Given the description of an element on the screen output the (x, y) to click on. 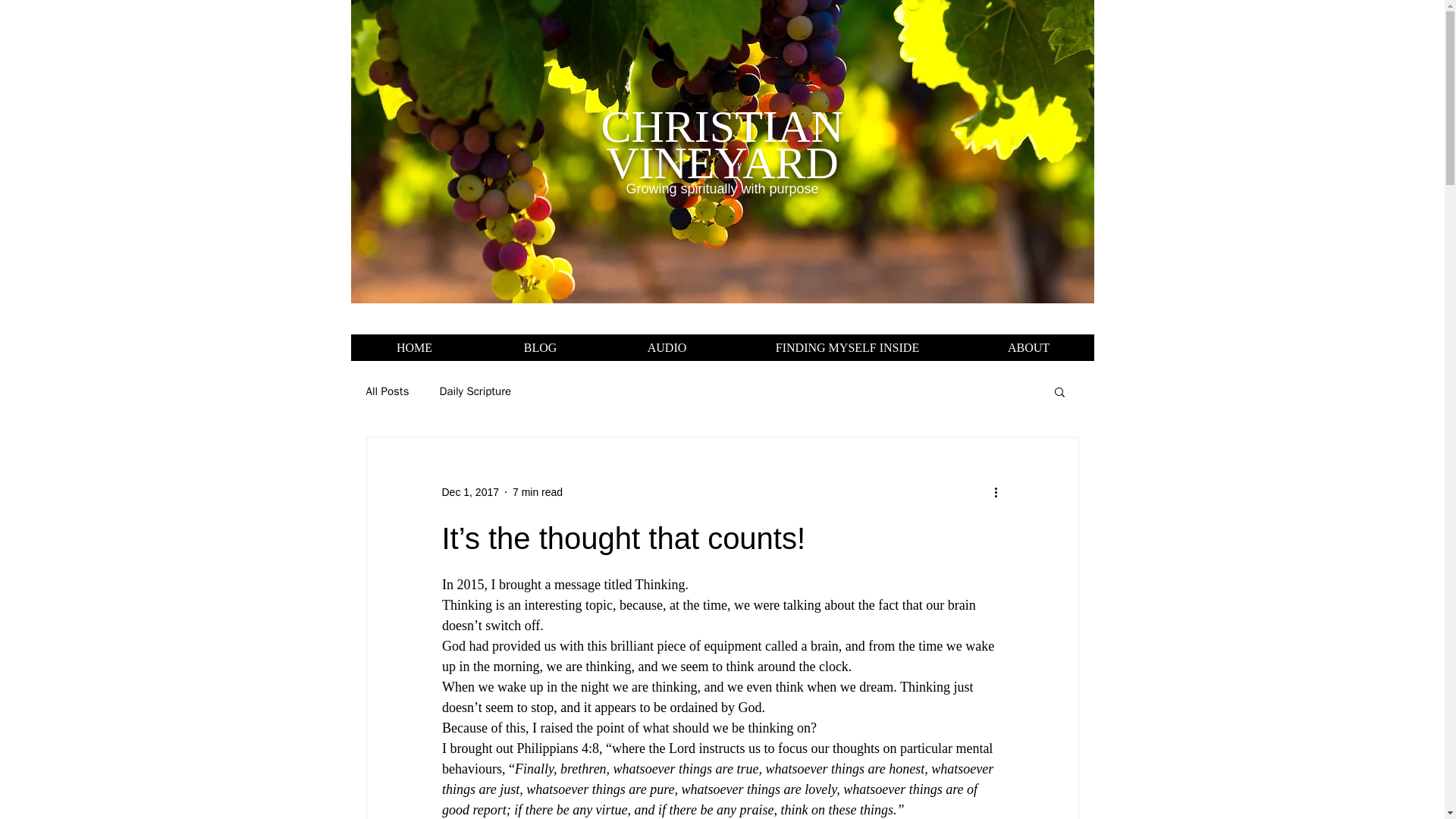
ABOUT (1028, 347)
CHRISTIAN VINEYARD (721, 144)
BLOG (539, 347)
Daily Scripture (475, 391)
AUDIO (667, 347)
HOME (413, 347)
Dec 1, 2017 (470, 491)
7 min read (537, 491)
All Posts (387, 391)
FINDING MYSELF INSIDE (846, 347)
